Given the description of an element on the screen output the (x, y) to click on. 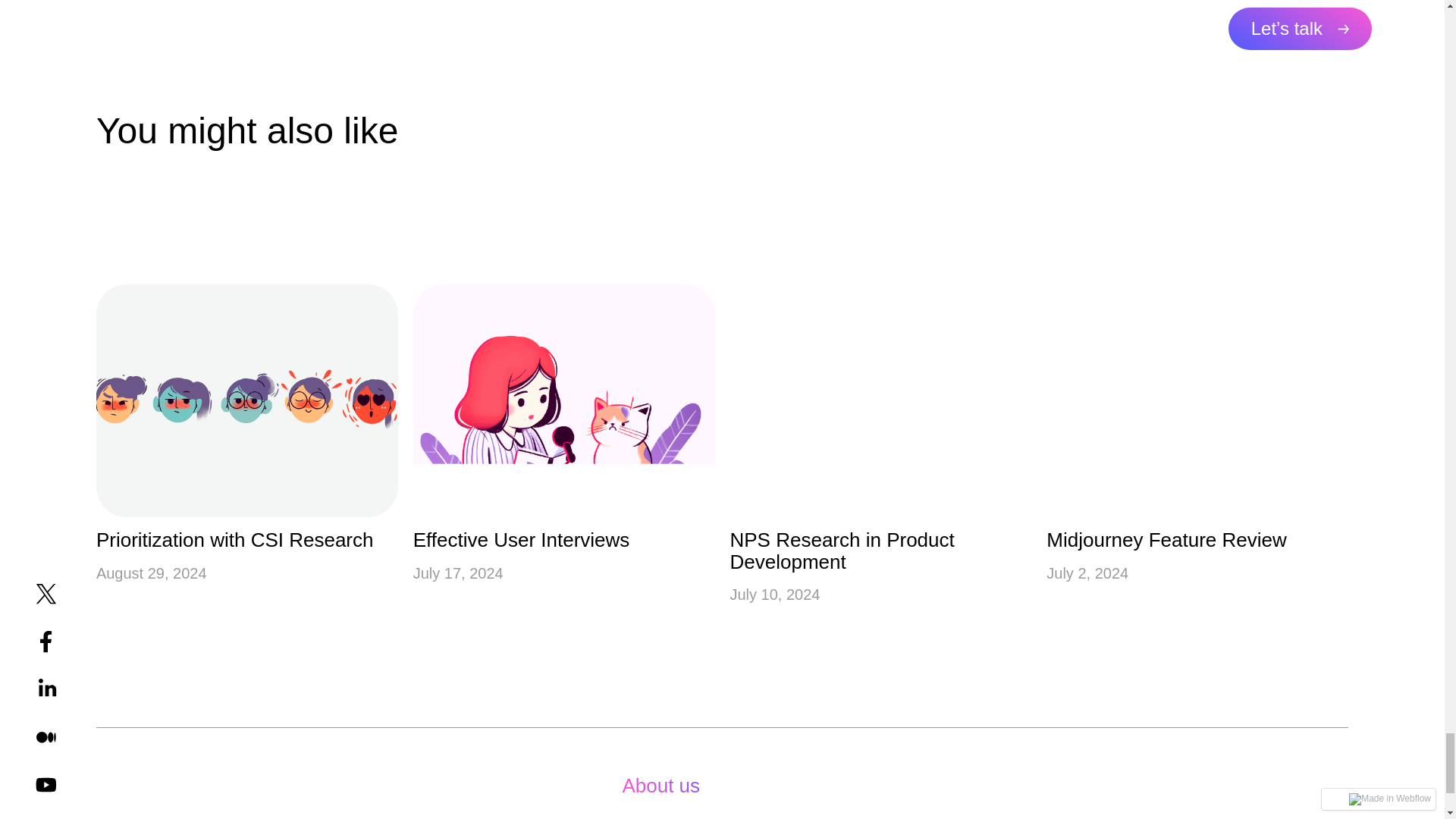
About us (686, 786)
